Given the description of an element on the screen output the (x, y) to click on. 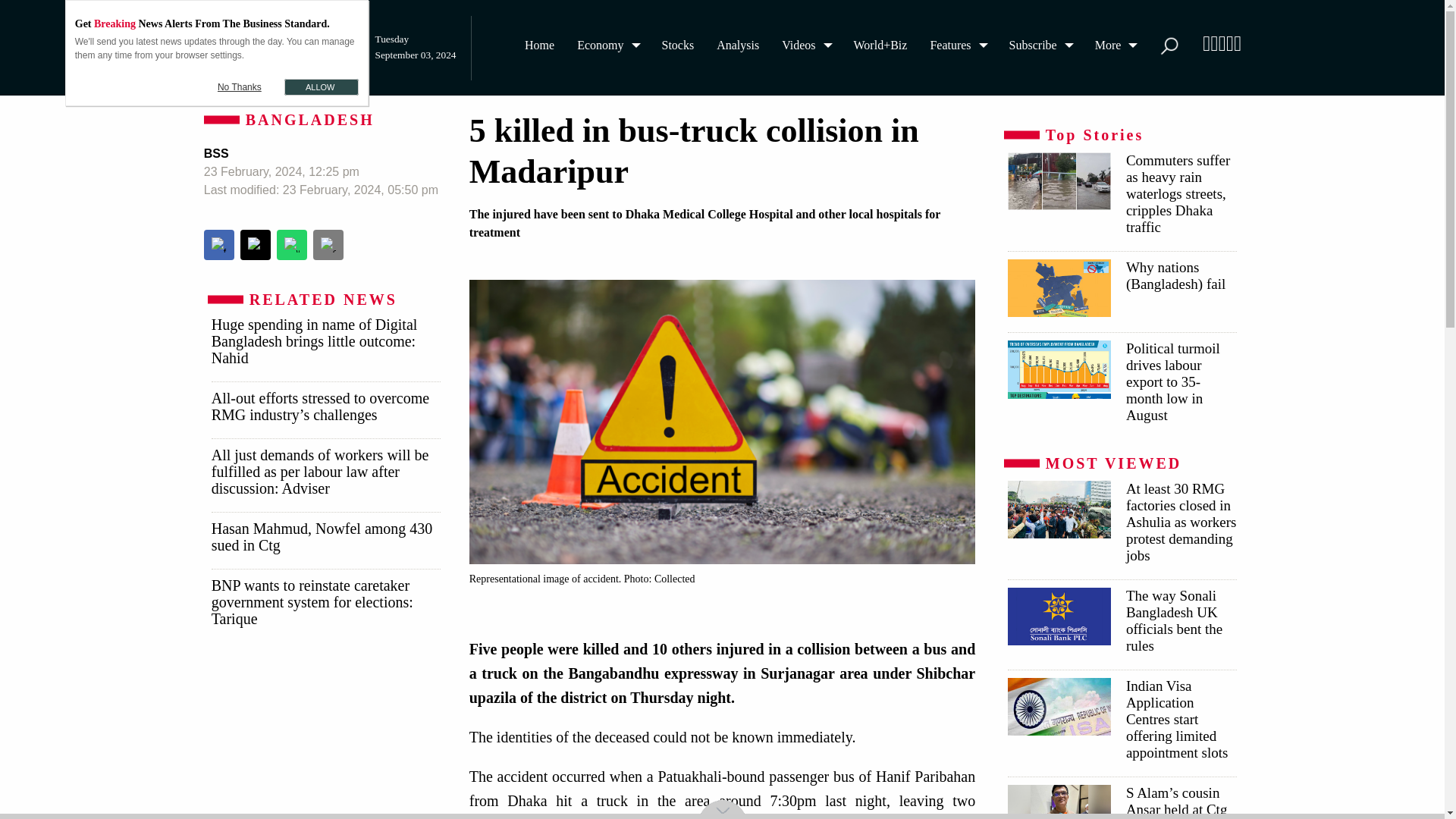
No Thanks (239, 86)
    ALLOW      (320, 86)
